Given the description of an element on the screen output the (x, y) to click on. 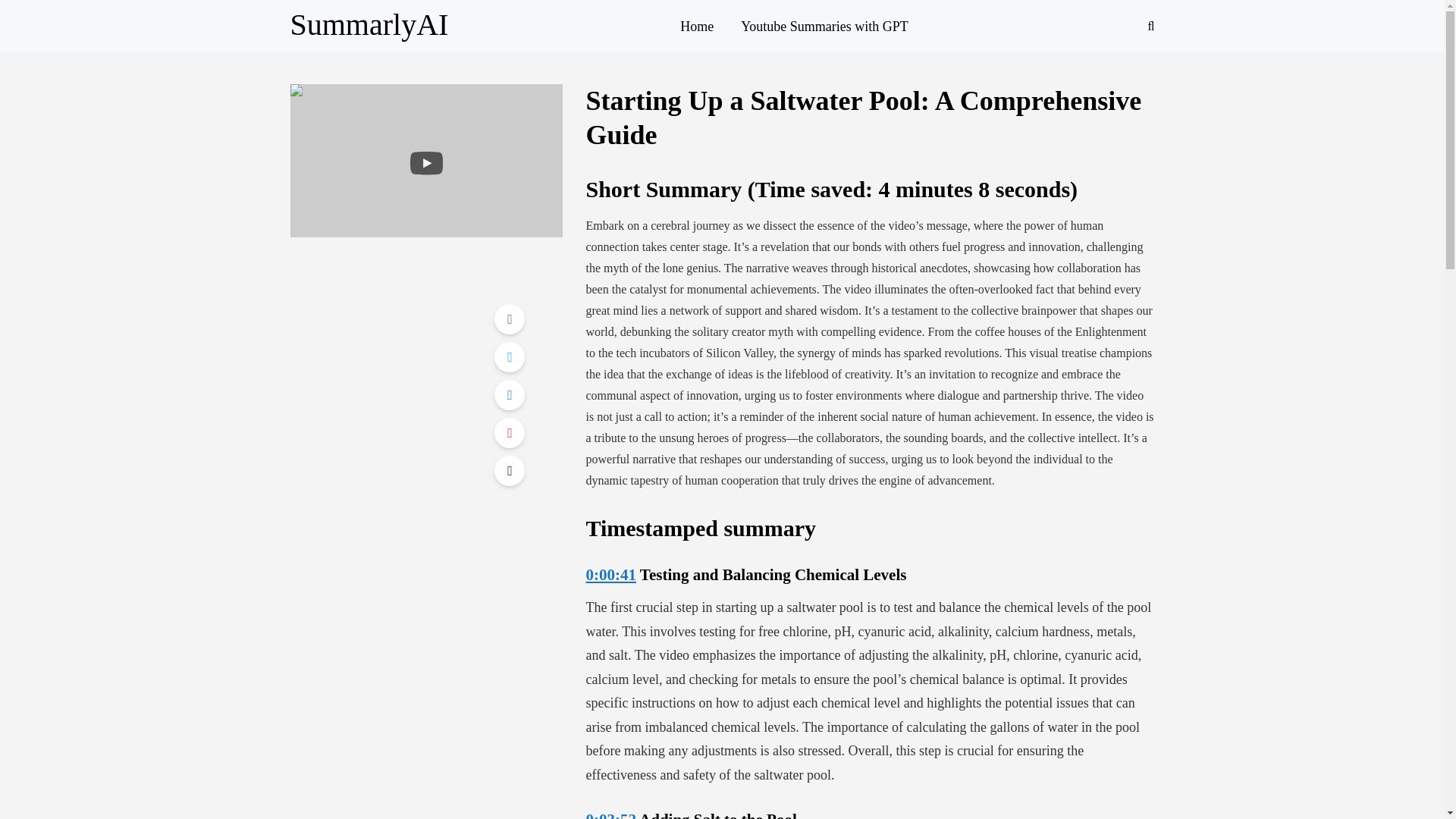
Youtube Summaries with GPT (823, 25)
Share with Facebook (509, 318)
0:00:41 (610, 574)
Pin this (509, 432)
Share by Email (509, 470)
Home (696, 25)
Tweet this (509, 357)
Search (43, 15)
0:03:52 (610, 814)
SummarlyAI (368, 24)
